Given the description of an element on the screen output the (x, y) to click on. 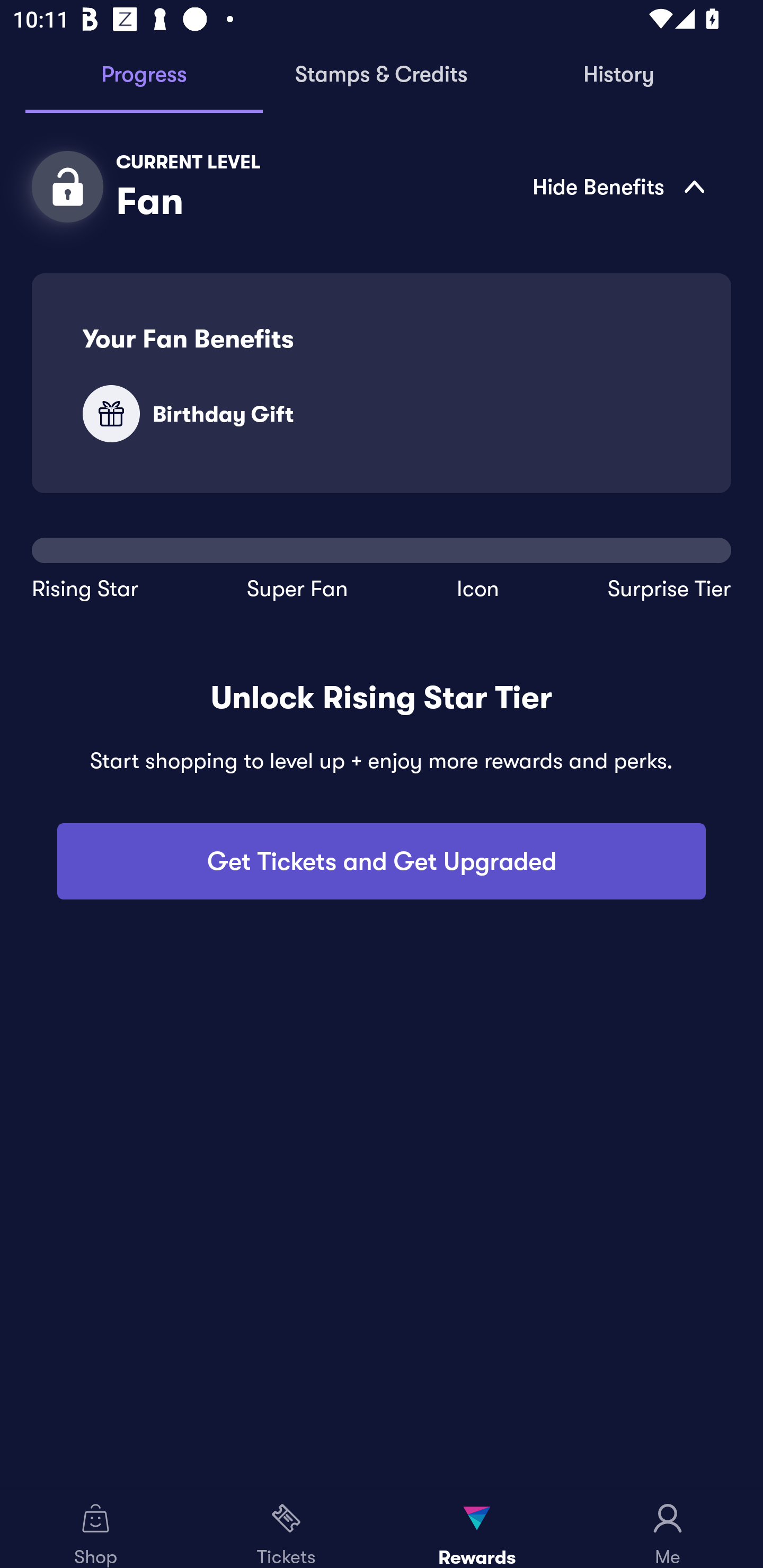
Progress (143, 74)
Stamps & Credits (381, 74)
History (618, 74)
Hide Benefits (501, 186)
Get Tickets and Get Upgraded (381, 861)
Shop (95, 1529)
Tickets (285, 1529)
Rewards (476, 1529)
Me (667, 1529)
